Given the description of an element on the screen output the (x, y) to click on. 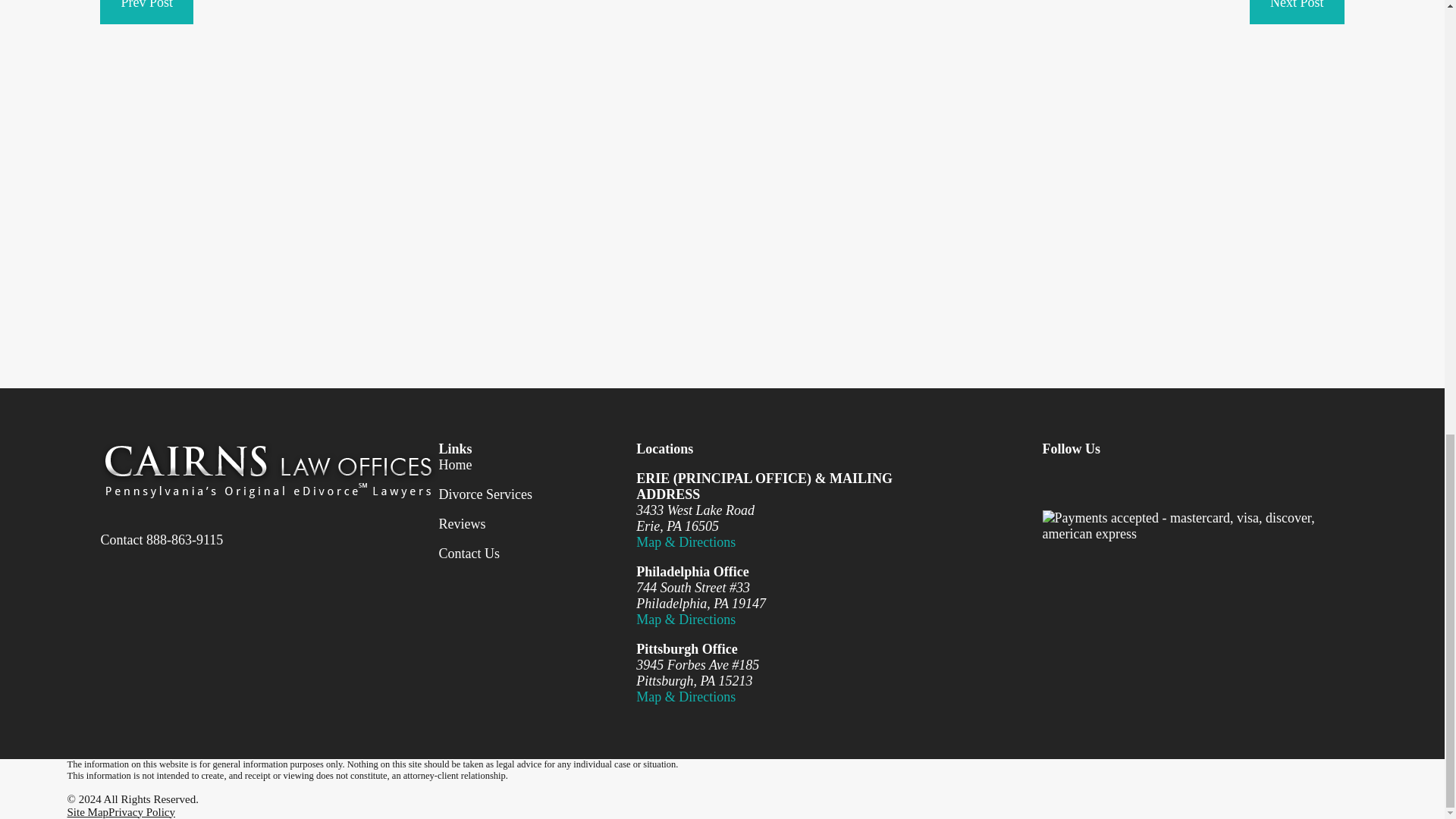
Twitter (1099, 479)
Facebook (1051, 479)
LinkedIn (1149, 479)
Avvo (1248, 479)
Home (269, 469)
Google Business Profile (1198, 479)
